Given the description of an element on the screen output the (x, y) to click on. 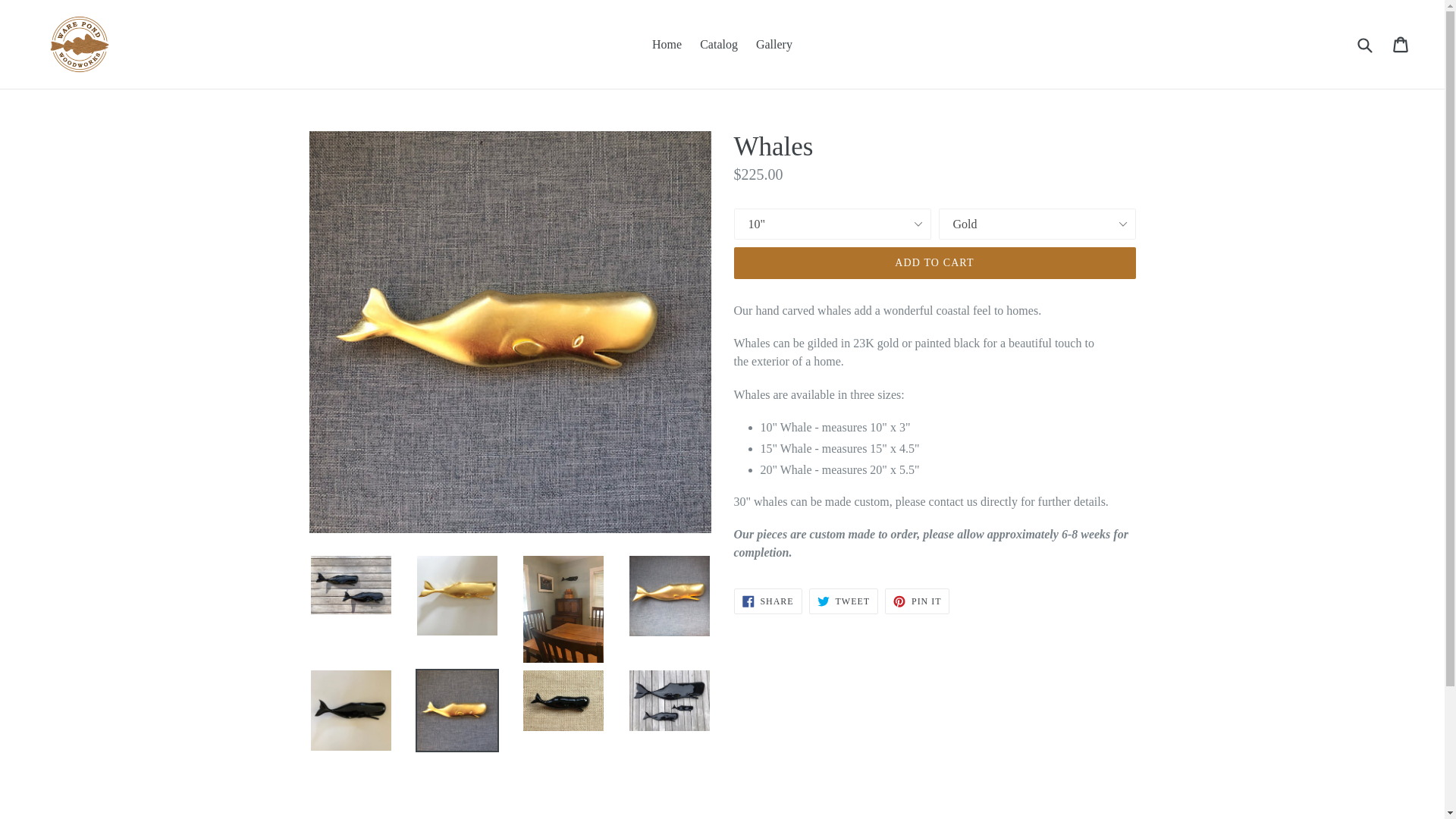
Tweet on Twitter (843, 601)
Gallery (843, 601)
ADD TO CART (767, 601)
Catalog (773, 44)
Pin on Pinterest (934, 263)
Share on Facebook (719, 44)
Home (917, 601)
